Given the description of an element on the screen output the (x, y) to click on. 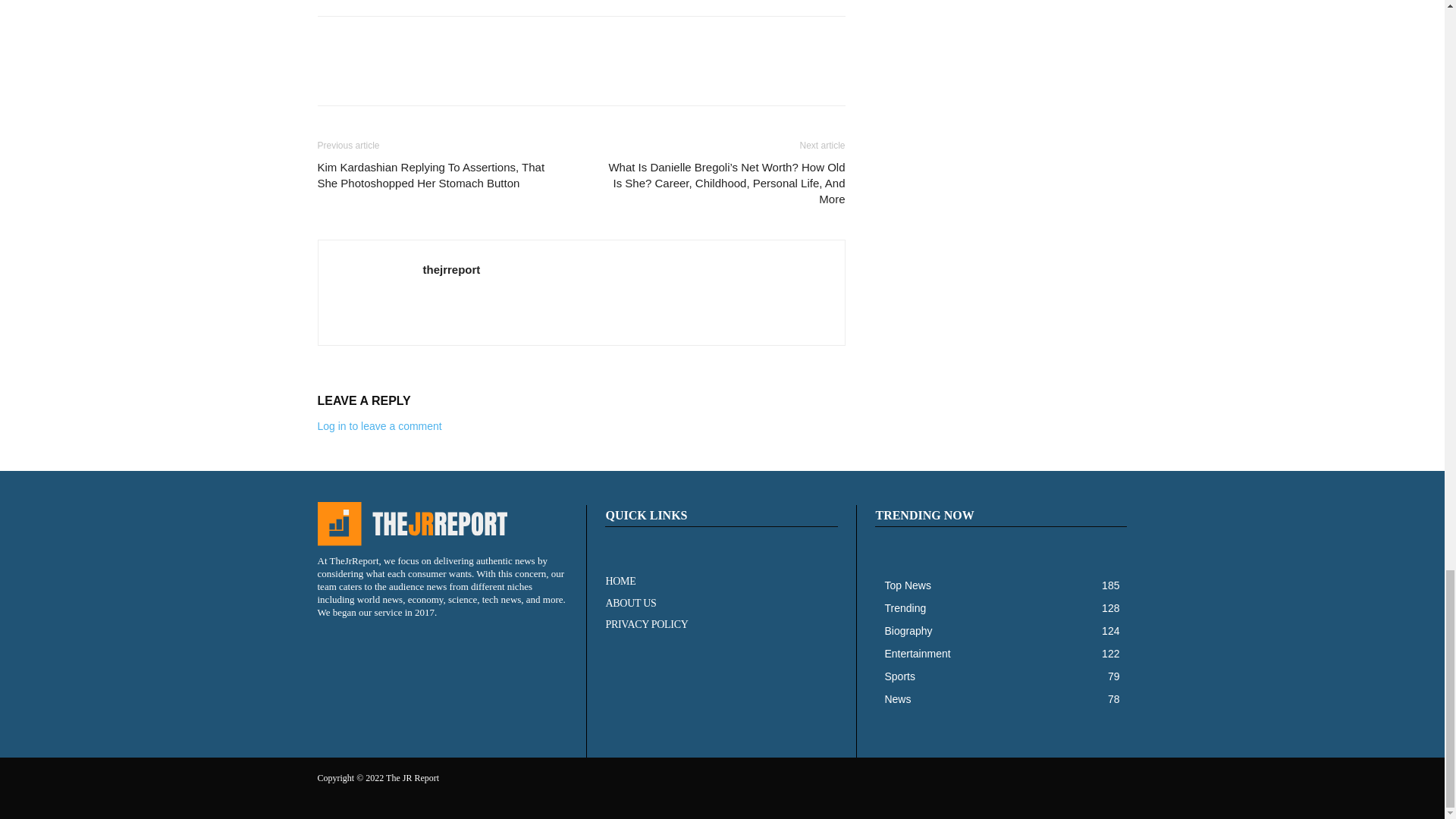
bottomFacebookLike (430, 40)
